Given the description of an element on the screen output the (x, y) to click on. 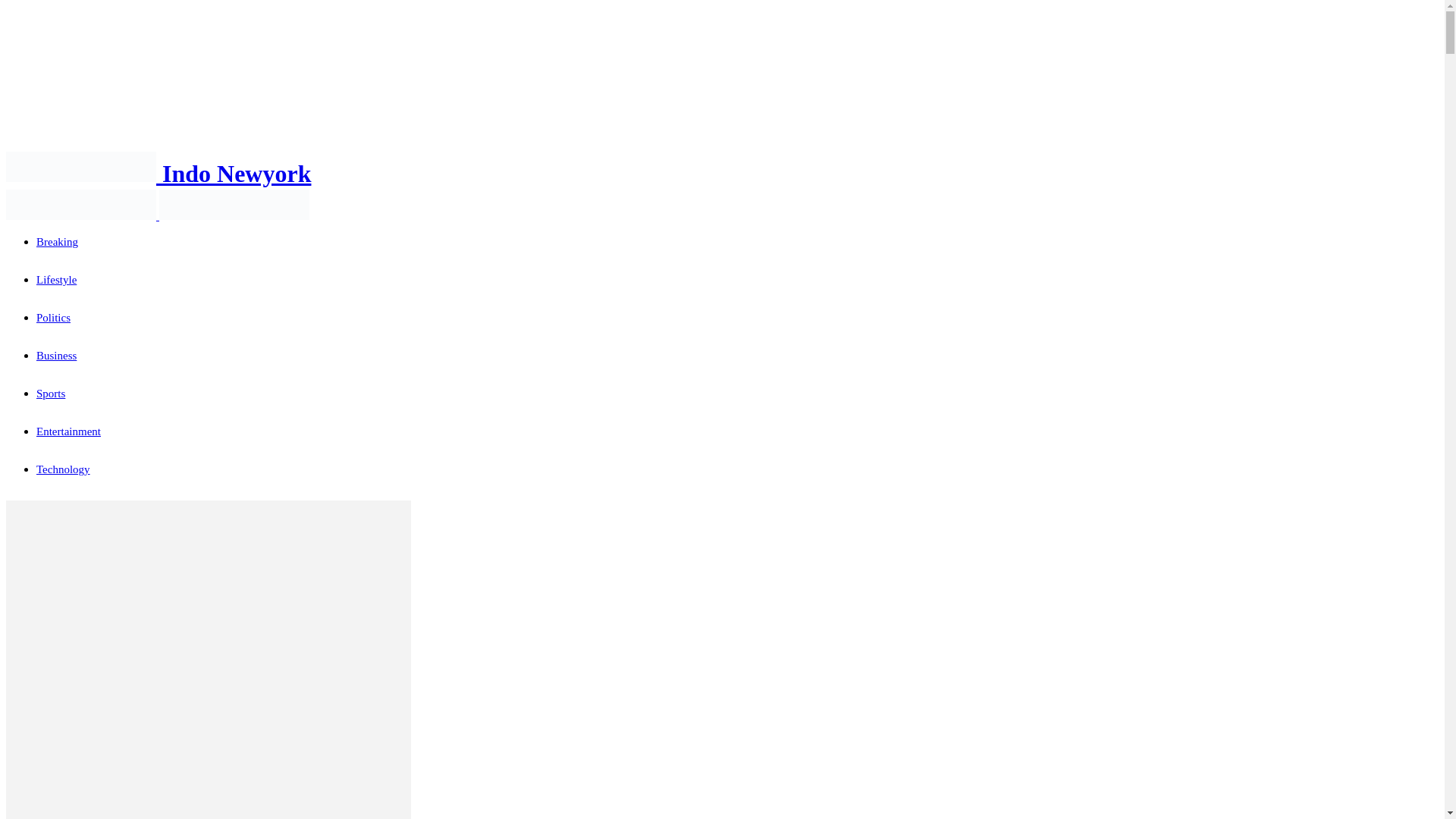
Sports (50, 393)
Indo Newyork (158, 173)
Breaking (57, 241)
Lifestyle (56, 279)
Business (56, 355)
Technology (63, 469)
Entertainment (68, 431)
Politics (52, 317)
